Given the description of an element on the screen output the (x, y) to click on. 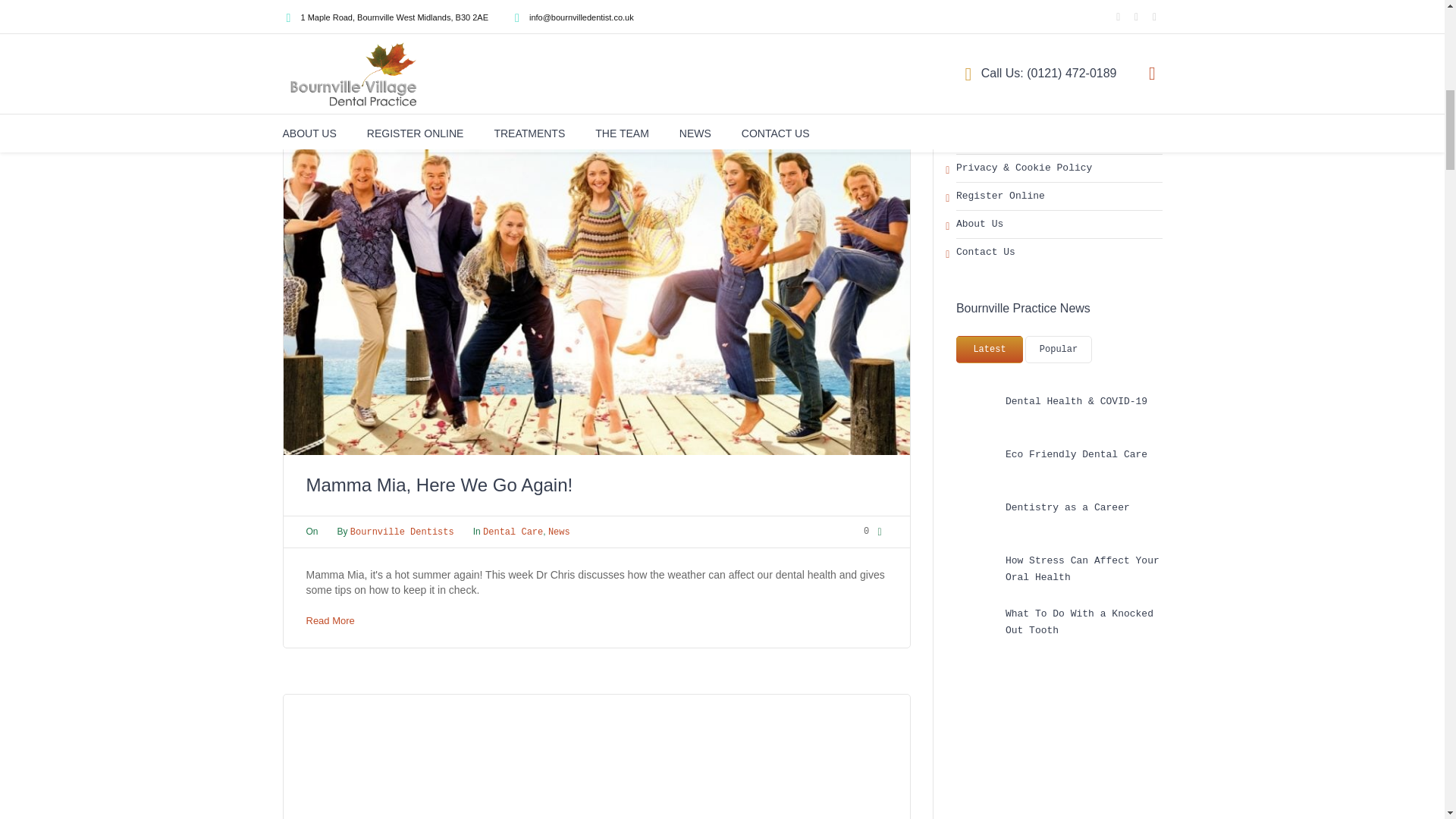
0 (874, 531)
Mamma Mia, Here We Go Again! (439, 485)
News (559, 532)
Read More (330, 28)
Dental Care (513, 532)
Posts by Bournville Dentists (402, 532)
Read More (330, 620)
Bournville Dentists (402, 532)
Mamma Mia, Here We Go Again! (596, 278)
